Given the description of an element on the screen output the (x, y) to click on. 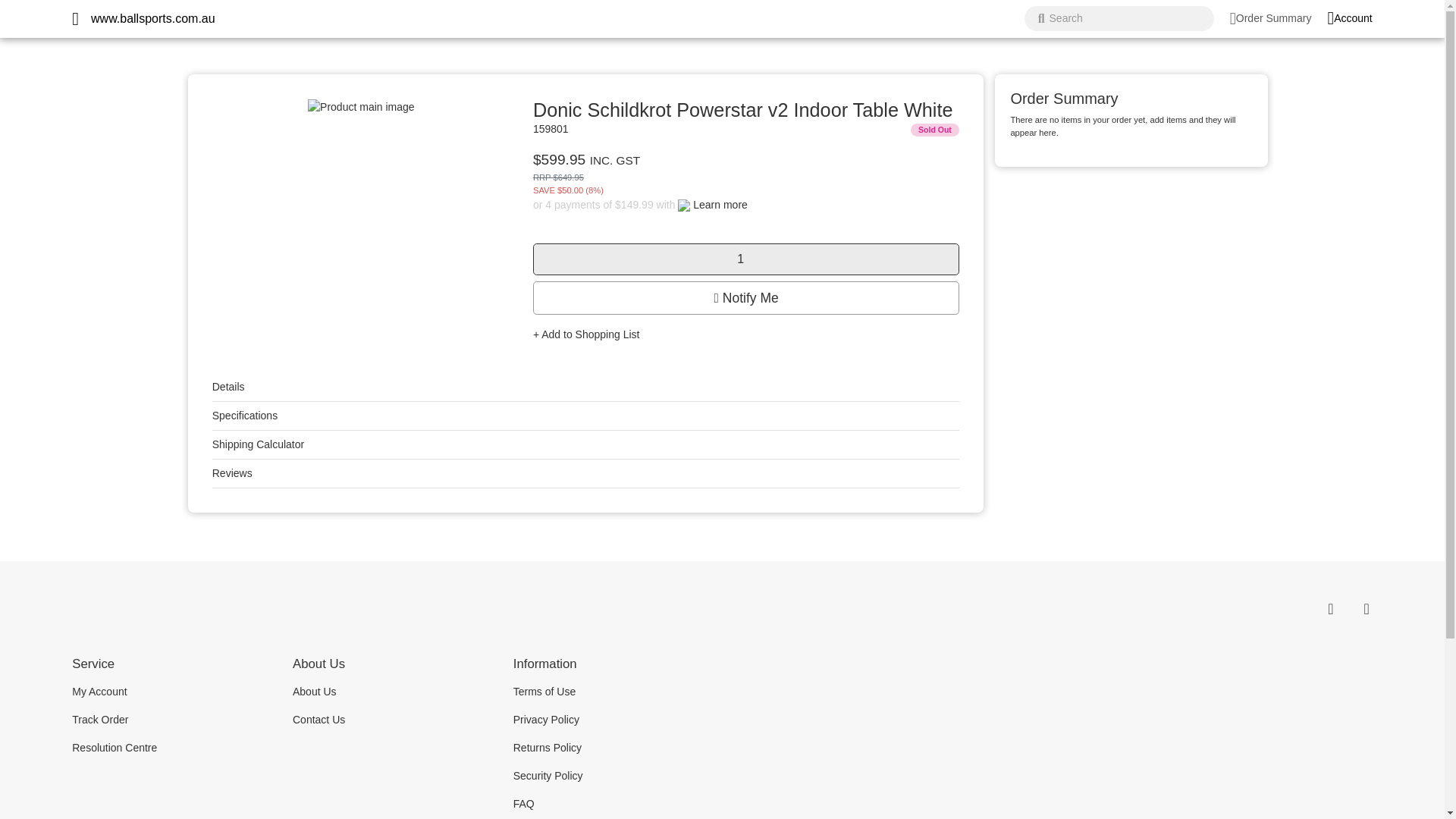
Notify Me (745, 297)
www.ballsports.com.au (152, 18)
Terms of Use (612, 691)
Shipping Calculator (258, 444)
Security Policy (612, 776)
FAQ (612, 804)
Privacy Policy (612, 719)
Returns Policy (612, 747)
Reviews (231, 472)
Details (228, 386)
